Given the description of an element on the screen output the (x, y) to click on. 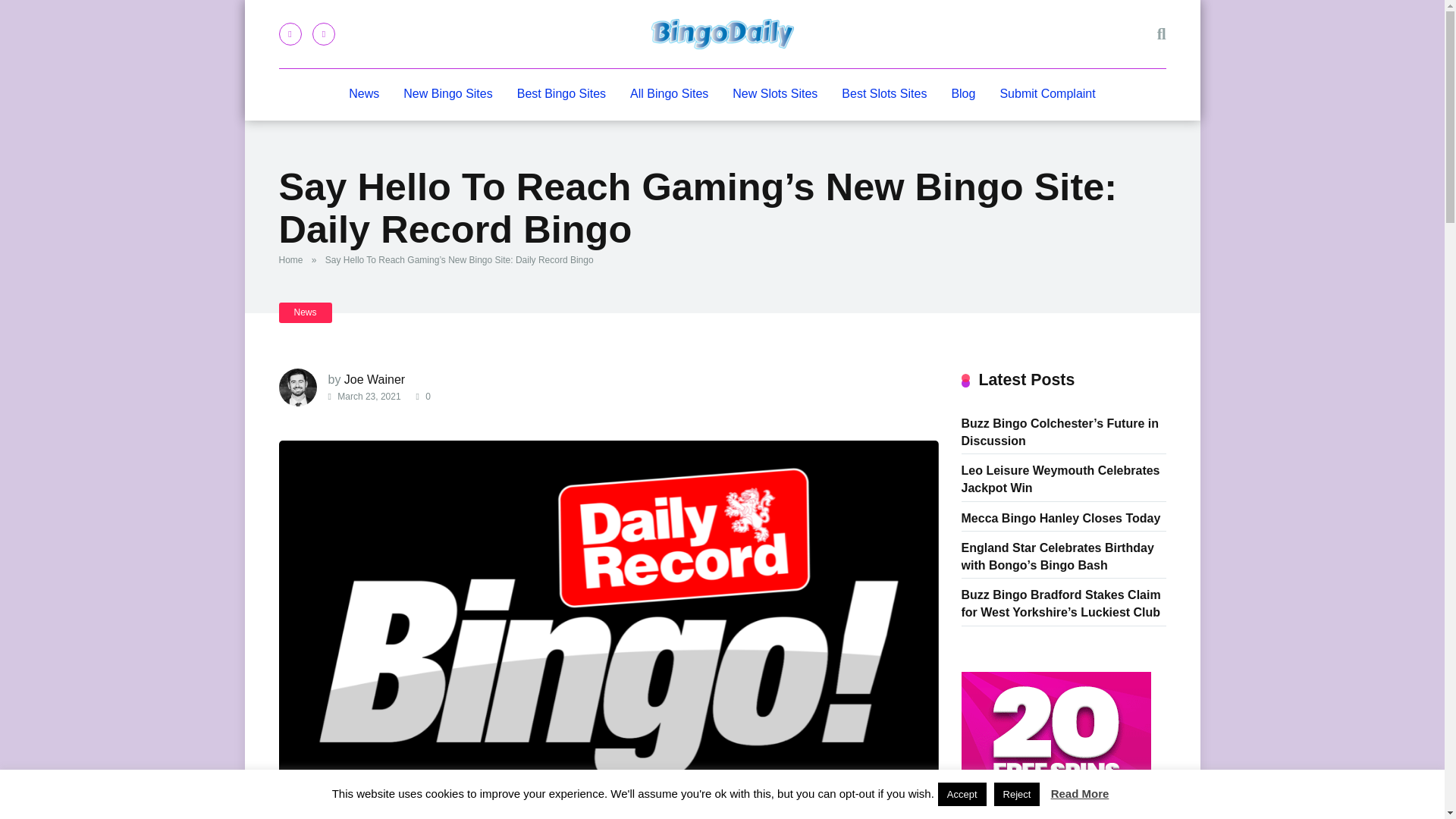
Submit Complaint (1046, 94)
News (305, 312)
BingoDaily (721, 33)
Posts by Joe Wainer (373, 379)
New Bingo Sites (447, 94)
News (363, 94)
Leo Leisure Weymouth Celebrates Jackpot Win (1060, 477)
Mecca Bingo Hanley Closes Today (1060, 517)
All Bingo Sites (668, 94)
Best Bingo Sites (561, 94)
New Slots Sites (774, 94)
Facebook (290, 33)
Blog (963, 94)
Twitter (323, 33)
Best Slots Sites (884, 94)
